Given the description of an element on the screen output the (x, y) to click on. 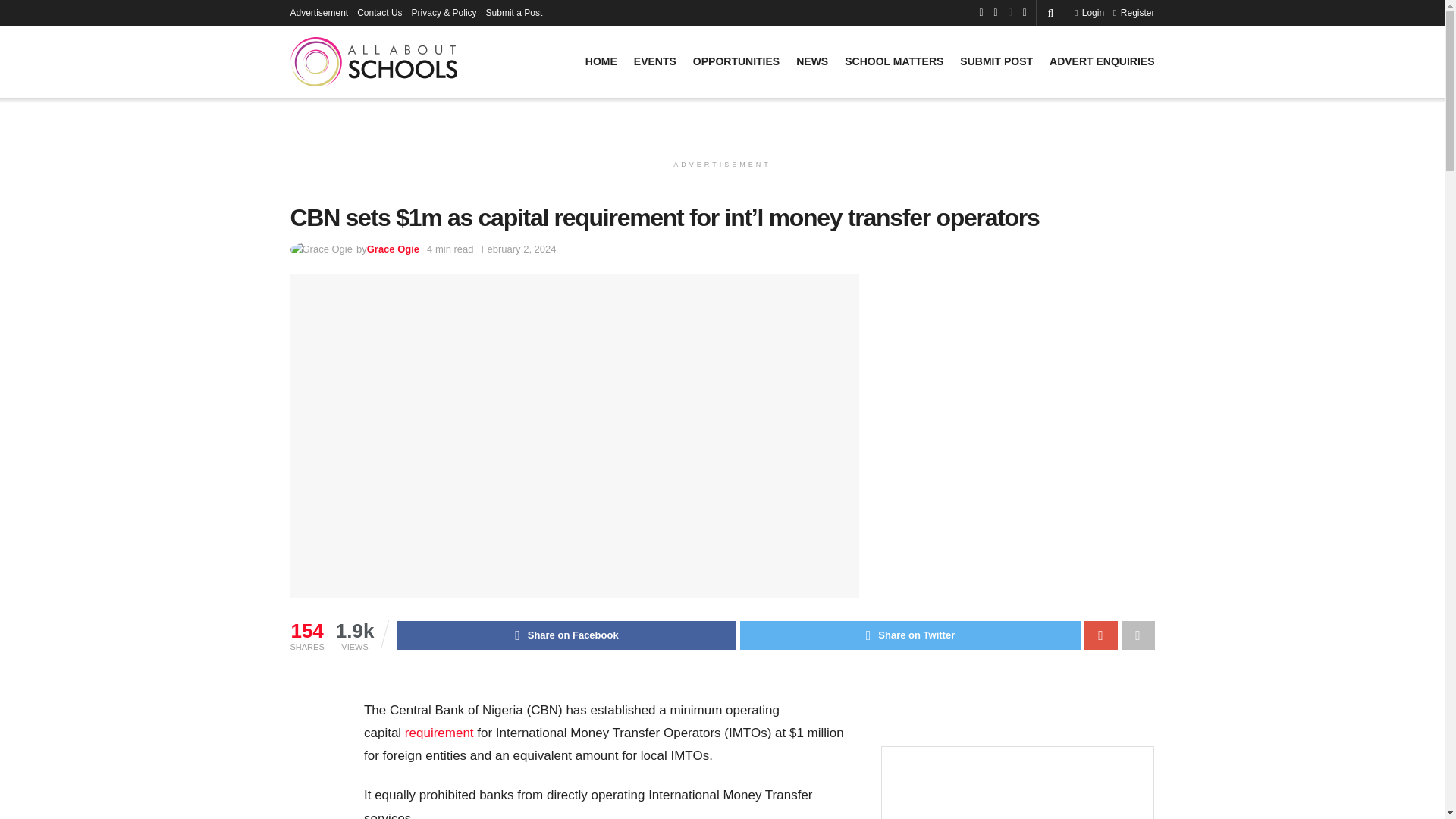
OPPORTUNITIES (735, 61)
February 2, 2024 (518, 248)
Advertisement (318, 12)
Register (1133, 12)
SUBMIT POST (995, 61)
SCHOOL MATTERS (893, 61)
Login (1088, 12)
Contact Us (378, 12)
Submit a Post (514, 12)
Grace Ogie (392, 248)
ADVERT ENQUIRIES (1101, 61)
